Given the description of an element on the screen output the (x, y) to click on. 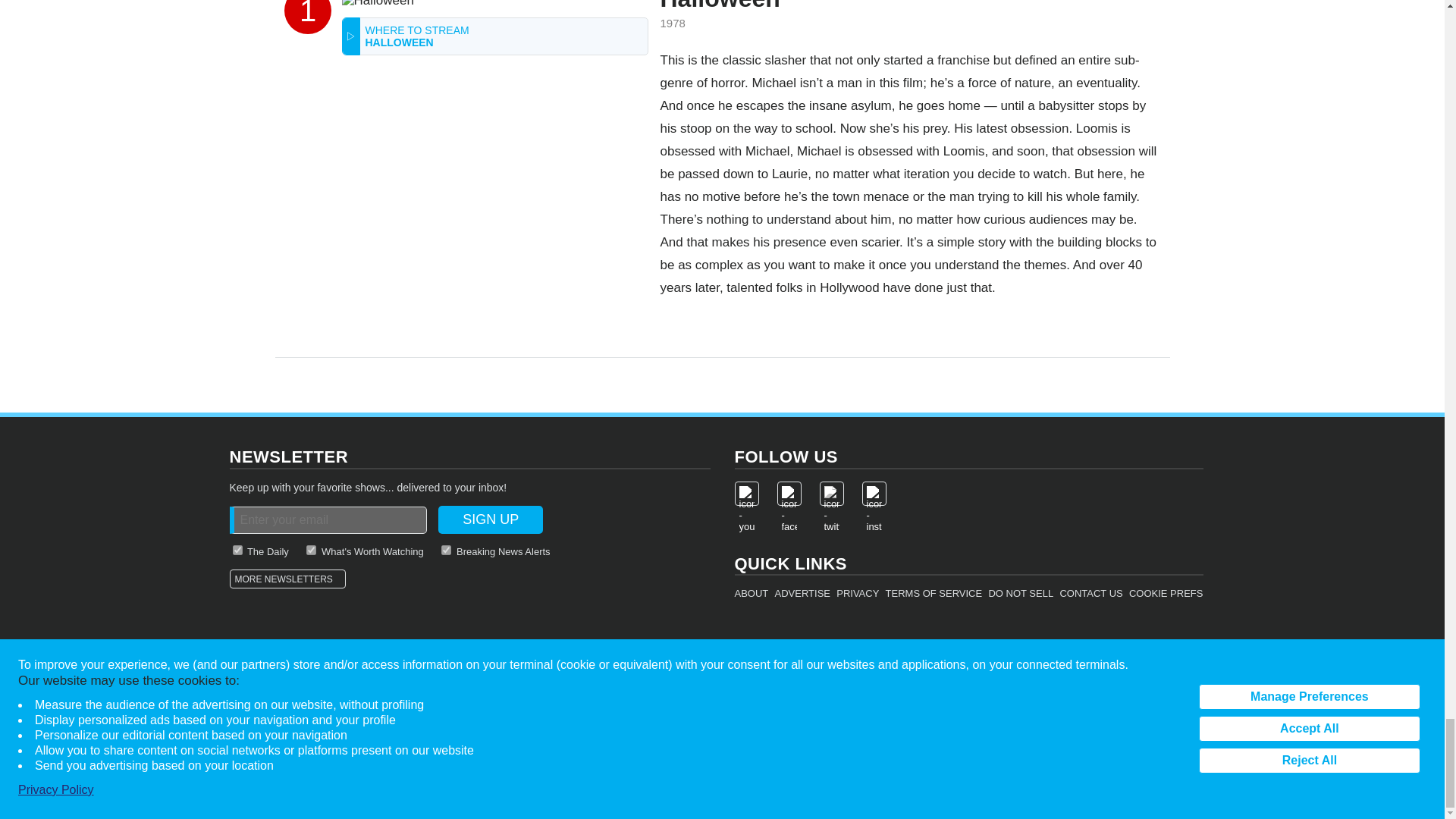
4 (446, 550)
SIGN UP (490, 519)
1 (310, 550)
2 (236, 550)
